Given the description of an element on the screen output the (x, y) to click on. 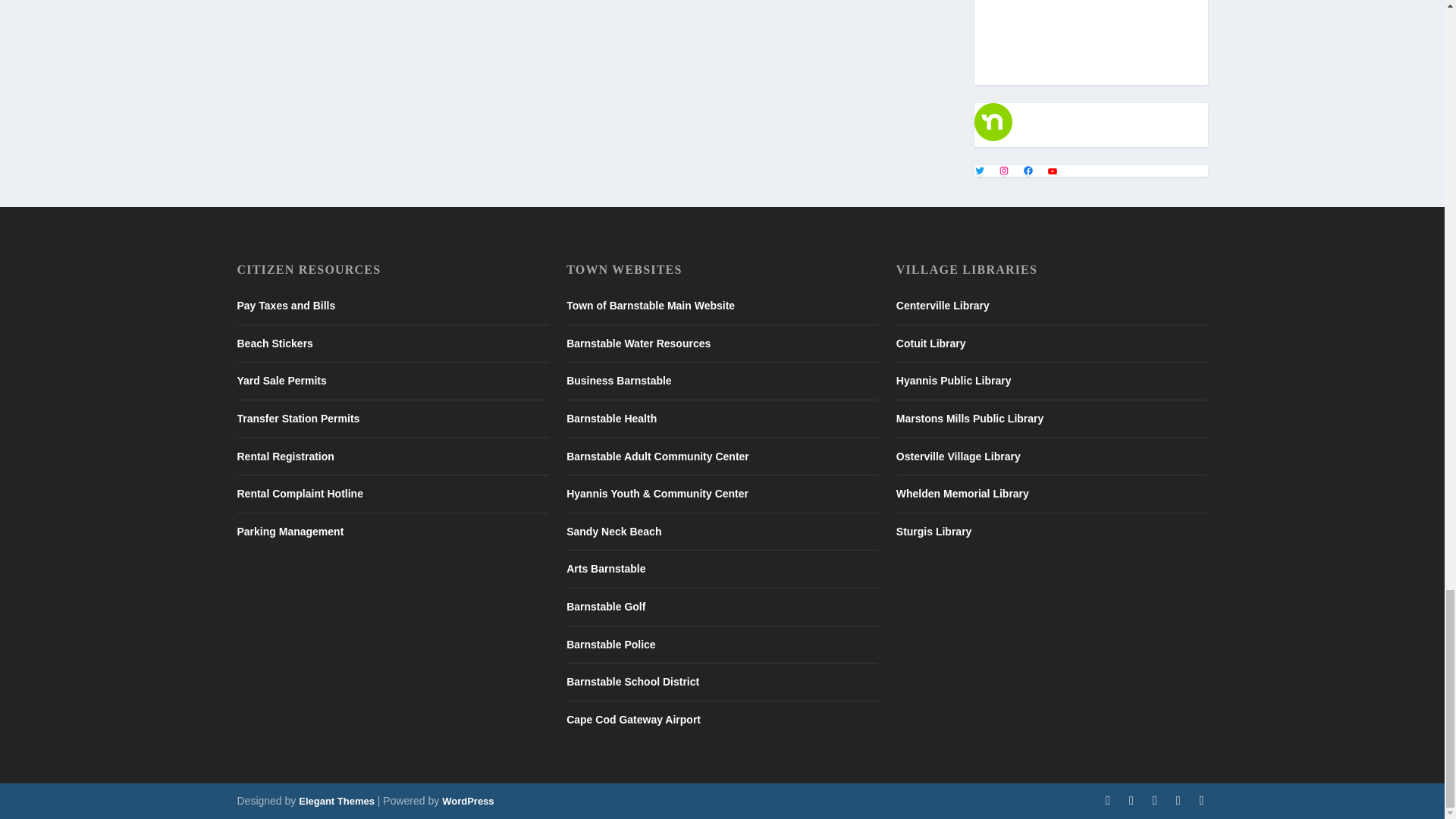
Residential Stormwater (1090, 37)
Premium WordPress Themes (336, 800)
